Given the description of an element on the screen output the (x, y) to click on. 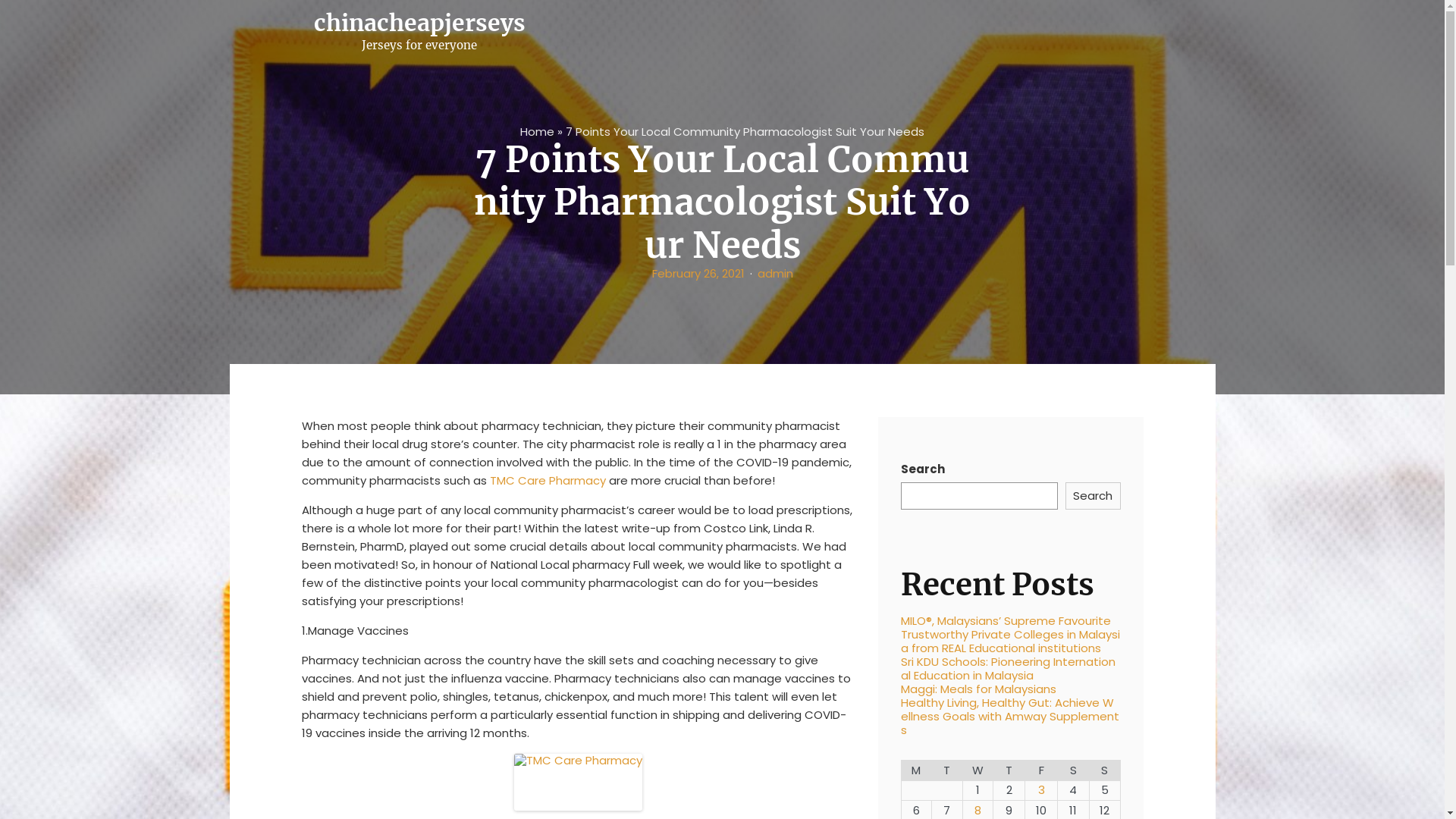
3 Element type: text (1041, 790)
Maggi: Meals for Malaysians Element type: text (978, 689)
admin Element type: text (774, 273)
Home Element type: text (537, 131)
February 26, 2021 Element type: text (698, 273)
chinacheapjerseys
Jerseys for everyone Element type: text (419, 32)
8 Element type: text (977, 810)
TMC Care Pharmacy Element type: text (547, 480)
Search Element type: text (1092, 495)
